Given the description of an element on the screen output the (x, y) to click on. 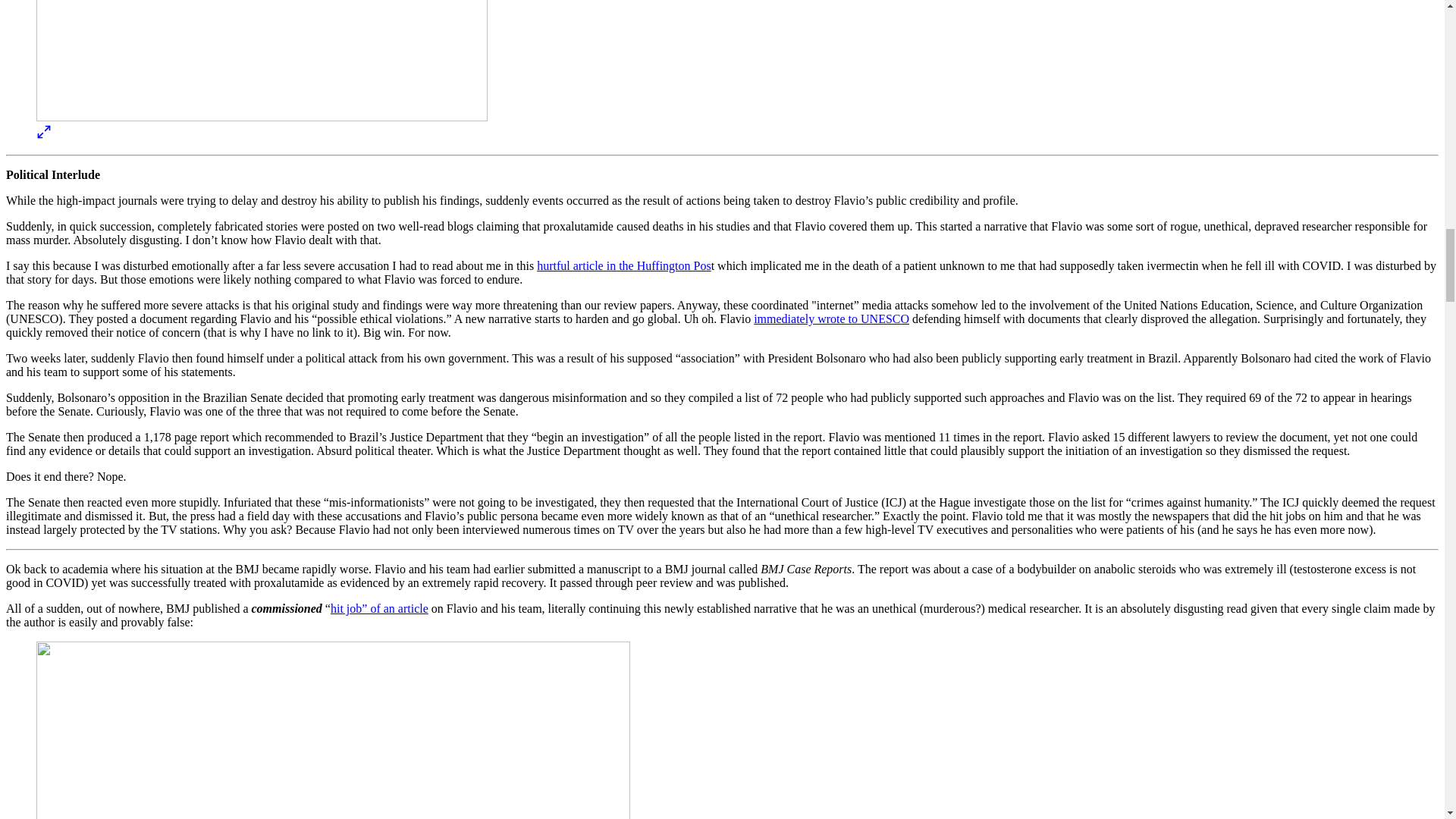
immediately wrote to UNESCO (831, 318)
hurtful article in the Huffington Pos (623, 265)
